Given the description of an element on the screen output the (x, y) to click on. 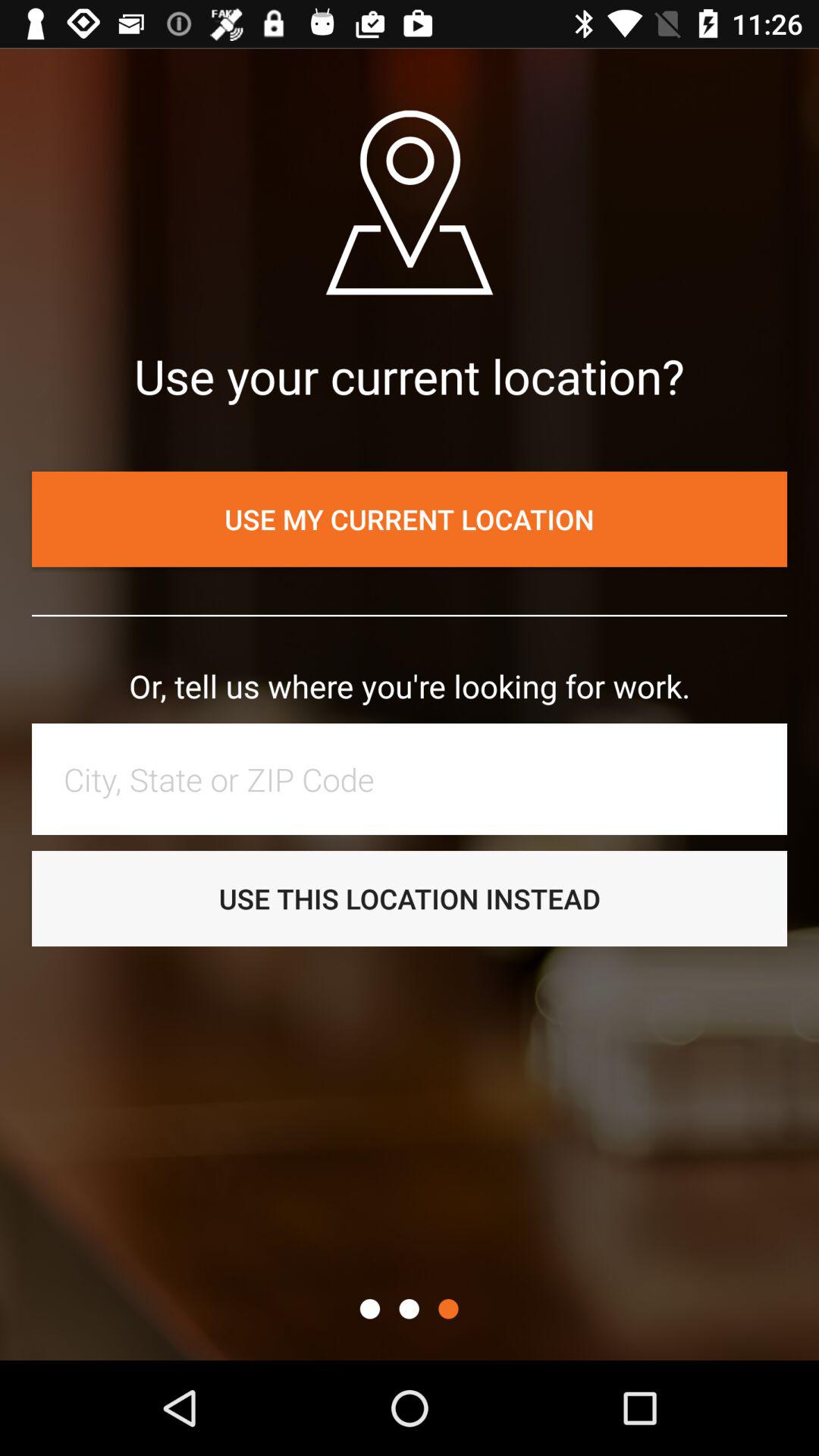
page count display (369, 1308)
